Given the description of an element on the screen output the (x, y) to click on. 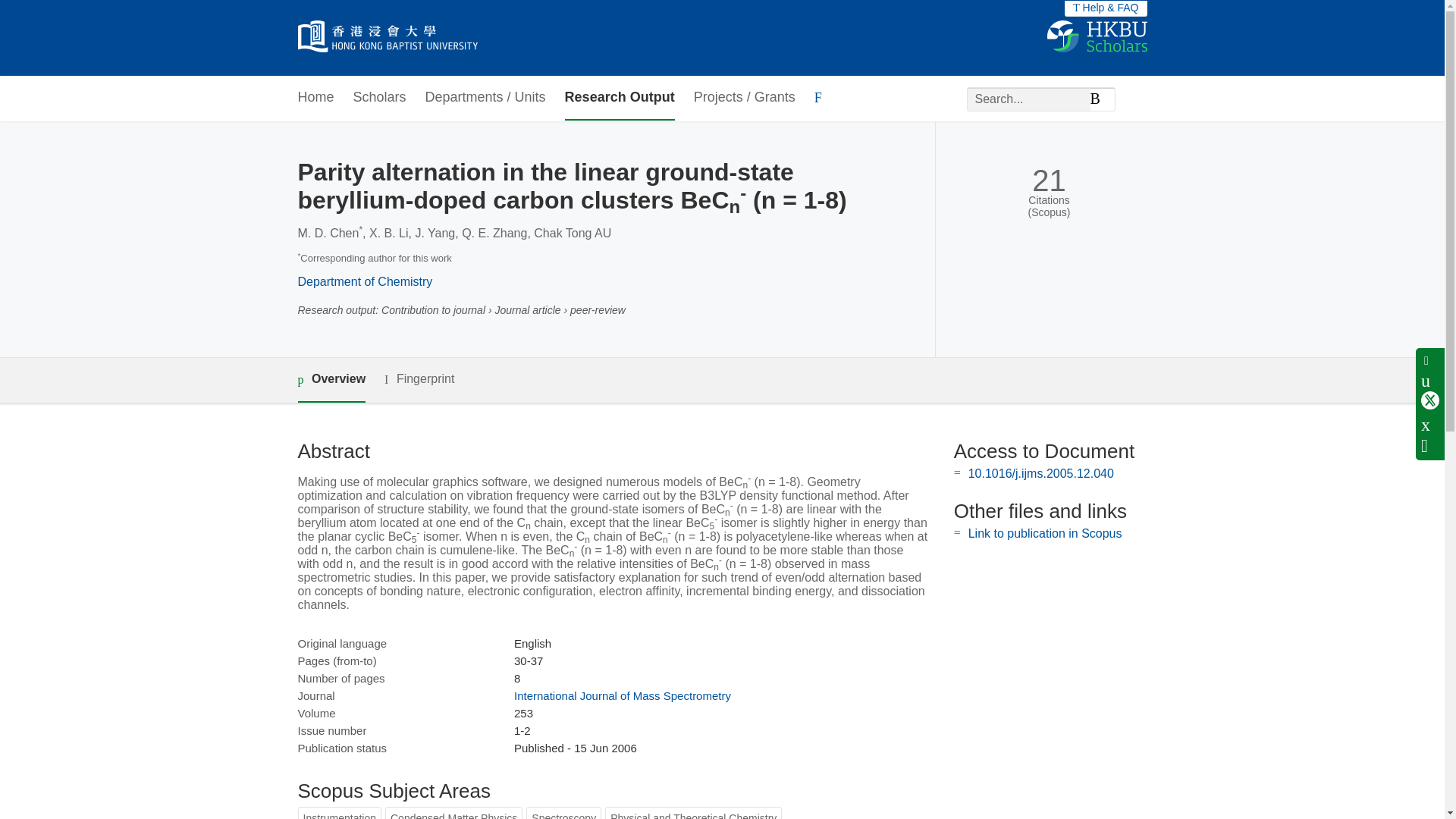
Overview (331, 379)
Hong Kong Baptist University Home (387, 37)
Research Output (619, 98)
Link to publication in Scopus (1045, 533)
Fingerprint (419, 379)
International Journal of Mass Spectrometry (621, 695)
Scholars (379, 98)
Department of Chemistry (364, 281)
